Given the description of an element on the screen output the (x, y) to click on. 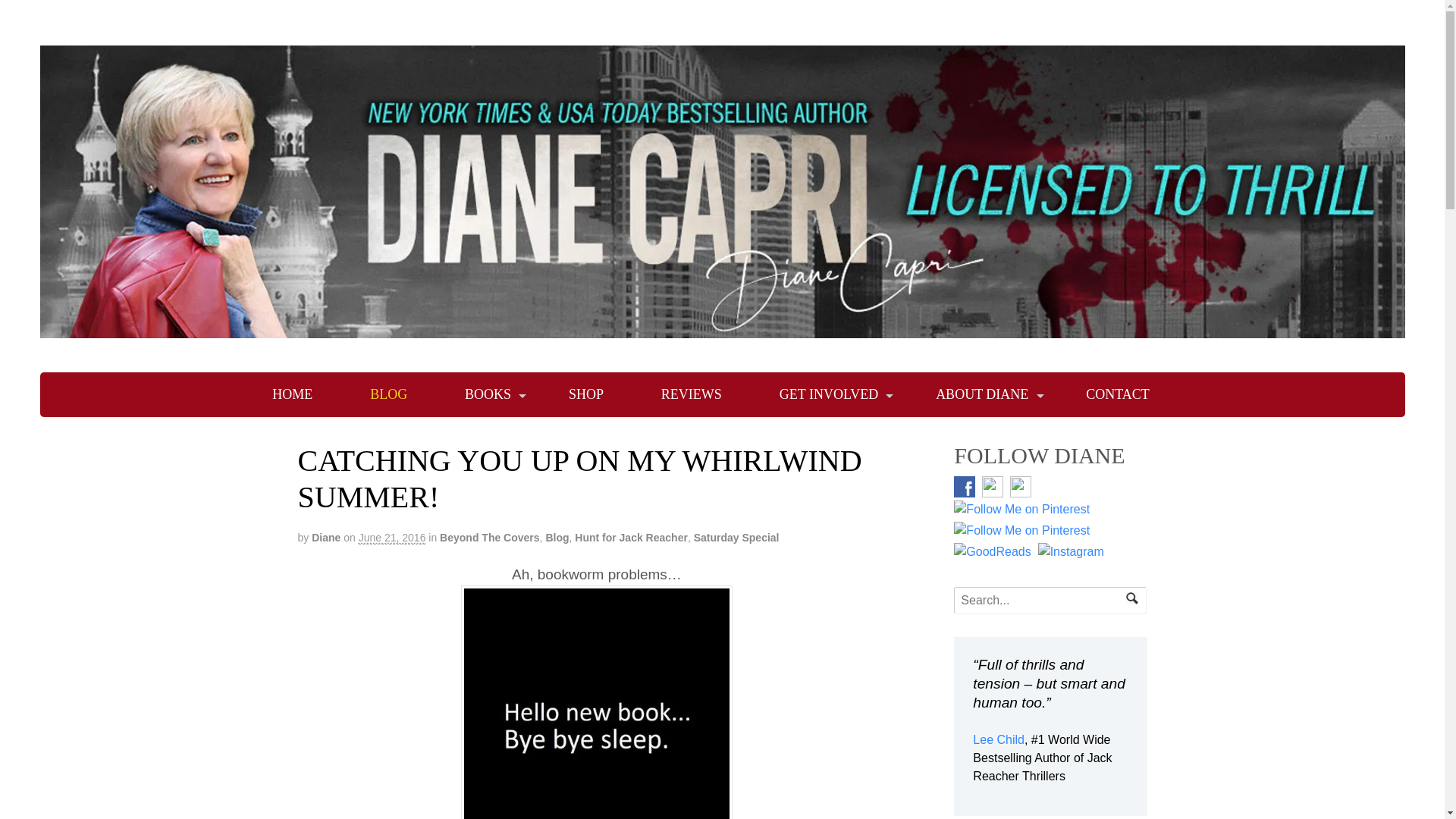
HOME (291, 394)
ABOUT DIANE (981, 394)
2016-06-21T00:05:39-0400 (392, 537)
CONTACT (1117, 394)
REVIEWS (691, 394)
Diane (325, 537)
Search... (1042, 600)
BOOKS (488, 394)
BLOG (387, 394)
SHOP (585, 394)
